Given the description of an element on the screen output the (x, y) to click on. 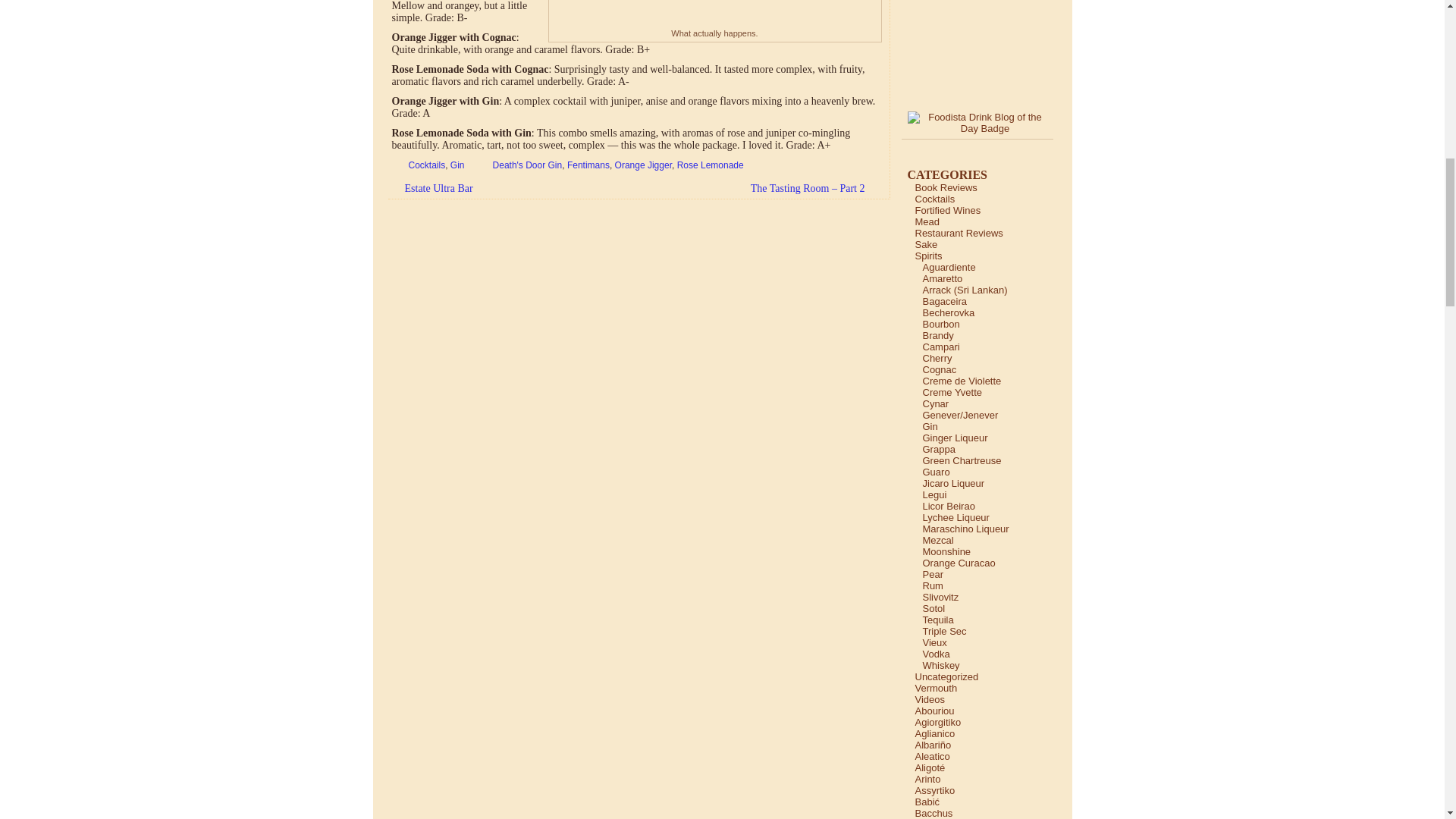
Book Reviews (945, 187)
Fentimans (588, 164)
Gin (456, 164)
Cocktails (934, 198)
Rose Lemonade (710, 164)
Estate Ultra Bar (430, 188)
Cocktails (426, 164)
Orange Jigger (642, 164)
Death's Door Gin (527, 164)
